Given the description of an element on the screen output the (x, y) to click on. 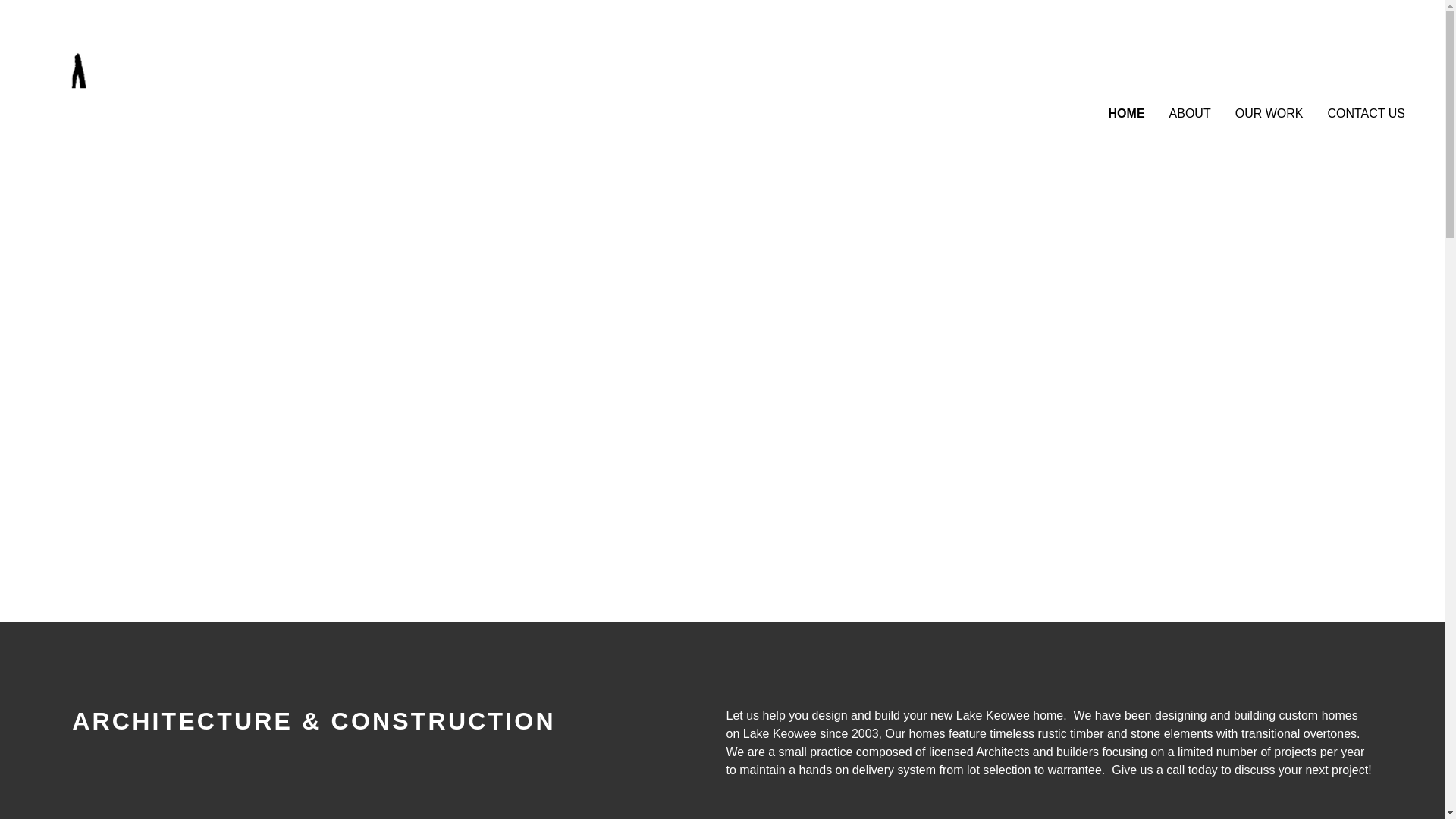
OUR WORK (1269, 112)
Skip to main content (12, 12)
HOME (1126, 112)
ABOUT (1190, 112)
CONTACT US (1365, 112)
